Given the description of an element on the screen output the (x, y) to click on. 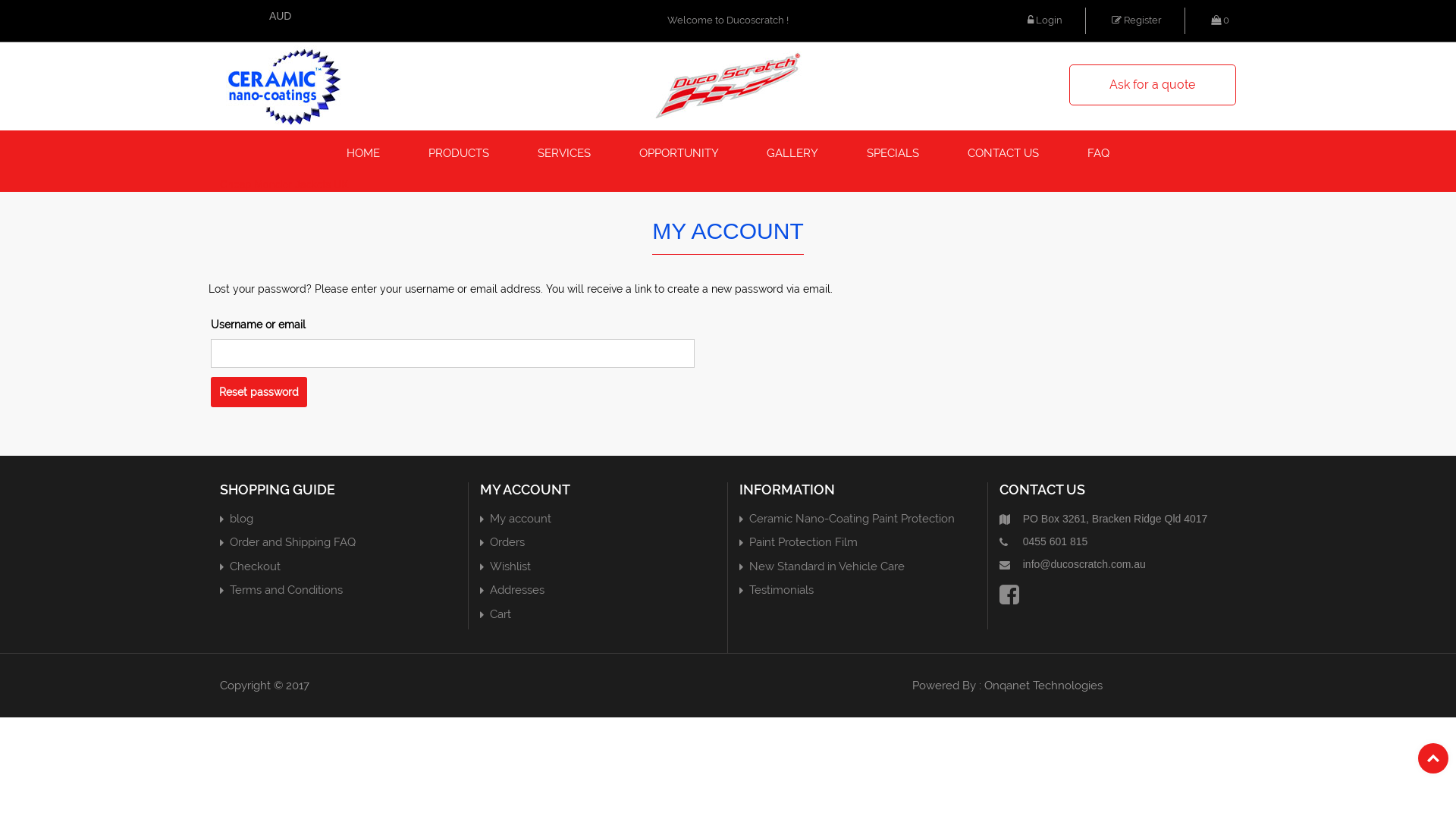
Testimonials Element type: text (781, 589)
Reset password Element type: text (258, 391)
SERVICES Element type: text (563, 153)
Ask for a quote Element type: text (1152, 85)
Orders Element type: text (506, 542)
SPECIALS Element type: text (892, 153)
blog Element type: text (241, 518)
AUD Element type: text (280, 15)
Register Element type: text (1136, 20)
FAQ Element type: text (1098, 153)
OPPORTUNITY Element type: text (678, 153)
My account Element type: text (520, 518)
Order and Shipping FAQ Element type: text (292, 542)
Ceramic Nano-Coating Paint Protection Element type: text (851, 518)
uk replica rolex Element type: text (786, 724)
GALLERY Element type: text (791, 153)
Top Element type: text (1433, 758)
Onqanet Technologies Element type: text (1043, 685)
New Standard in Vehicle Care Element type: text (826, 566)
Cheap Moncler Jackets UK Element type: text (283, 184)
Paint Protection Film Element type: text (803, 542)
Login Element type: text (1044, 20)
Replica UK Rolex Watches Element type: text (1272, 755)
CONTACT US Element type: text (1002, 153)
Addresses Element type: text (516, 589)
rolex copies cheap Element type: text (1250, 770)
HOME Element type: text (362, 153)
Checkout Element type: text (254, 566)
Terms and Conditions Element type: text (285, 589)
Wishlist Element type: text (509, 566)
rolex copies cheap Element type: text (340, 770)
PRODUCTS Element type: text (458, 153)
0 Element type: text (1223, 20)
Cart Element type: text (500, 614)
replica watches Element type: text (788, 740)
